Given the description of an element on the screen output the (x, y) to click on. 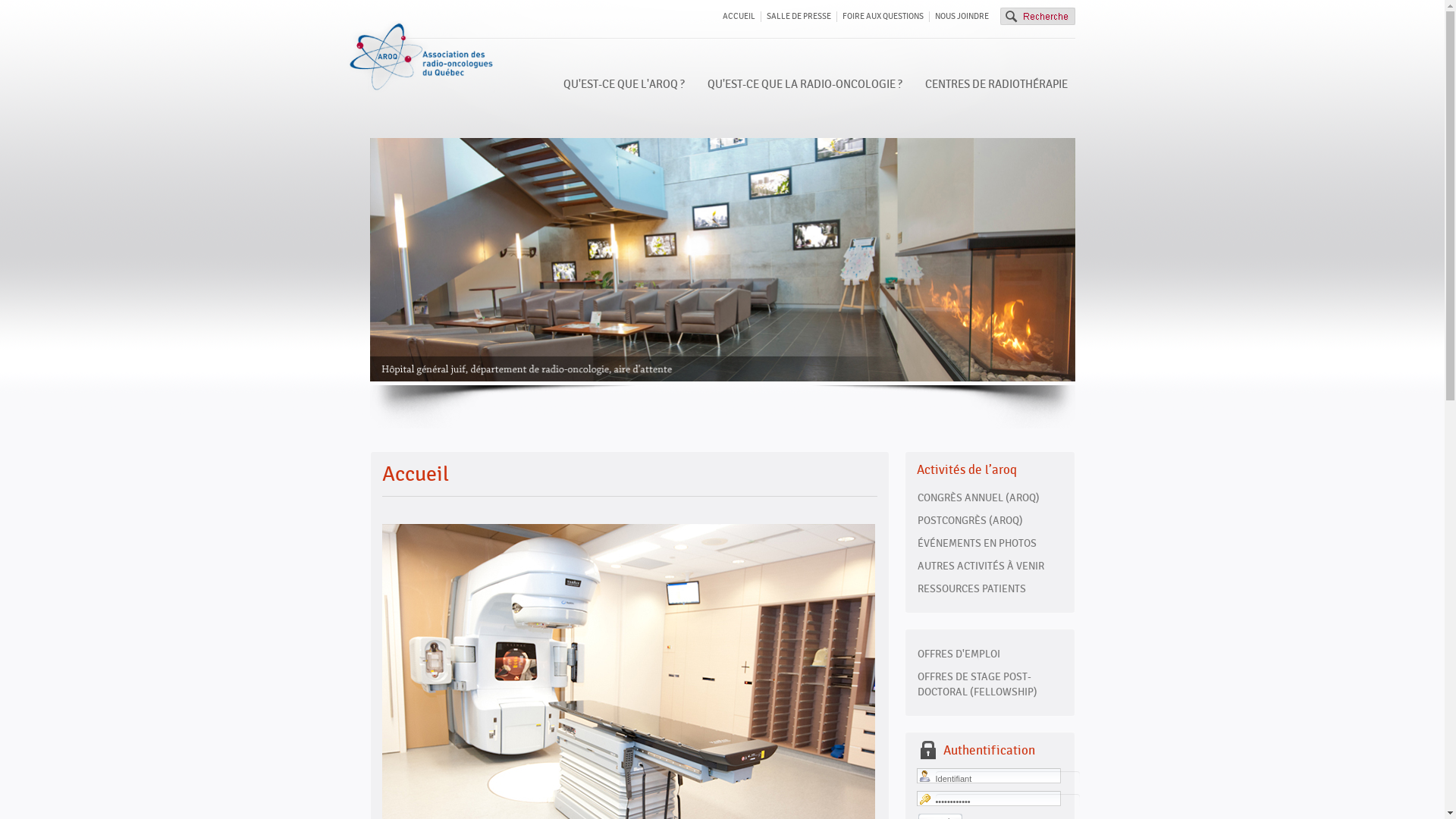
RESSOURCES PATIENTS Element type: text (989, 588)
QU'EST-CE QUE LA RADIO-ONCOLOGIE ? Element type: text (804, 84)
ACCUEIL Element type: text (737, 16)
Accueil Element type: text (415, 473)
SALLE DE PRESSE Element type: text (797, 16)
FOIRE AUX QUESTIONS Element type: text (881, 16)
OFFRES D'EMPLOI Element type: text (989, 653)
NOUS JOINDRE Element type: text (961, 16)
OFFRES DE STAGE POST-DOCTORAL (FELLOWSHIP) Element type: text (989, 683)
QU'EST-CE QUE L'AROQ ? Element type: text (623, 84)
